Given the description of an element on the screen output the (x, y) to click on. 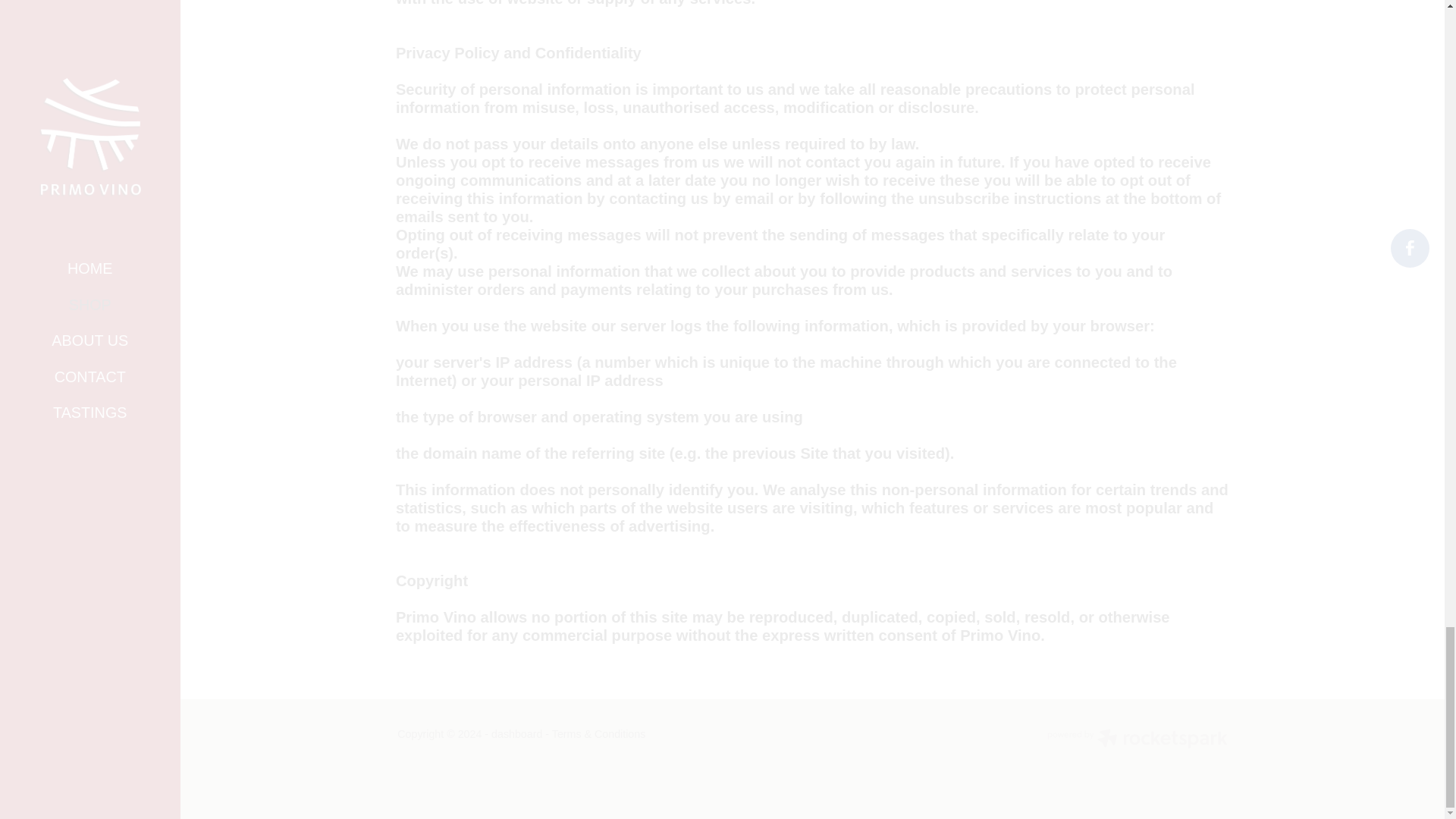
dashboard (516, 734)
Rocketspark website builder (1136, 740)
